Given the description of an element on the screen output the (x, y) to click on. 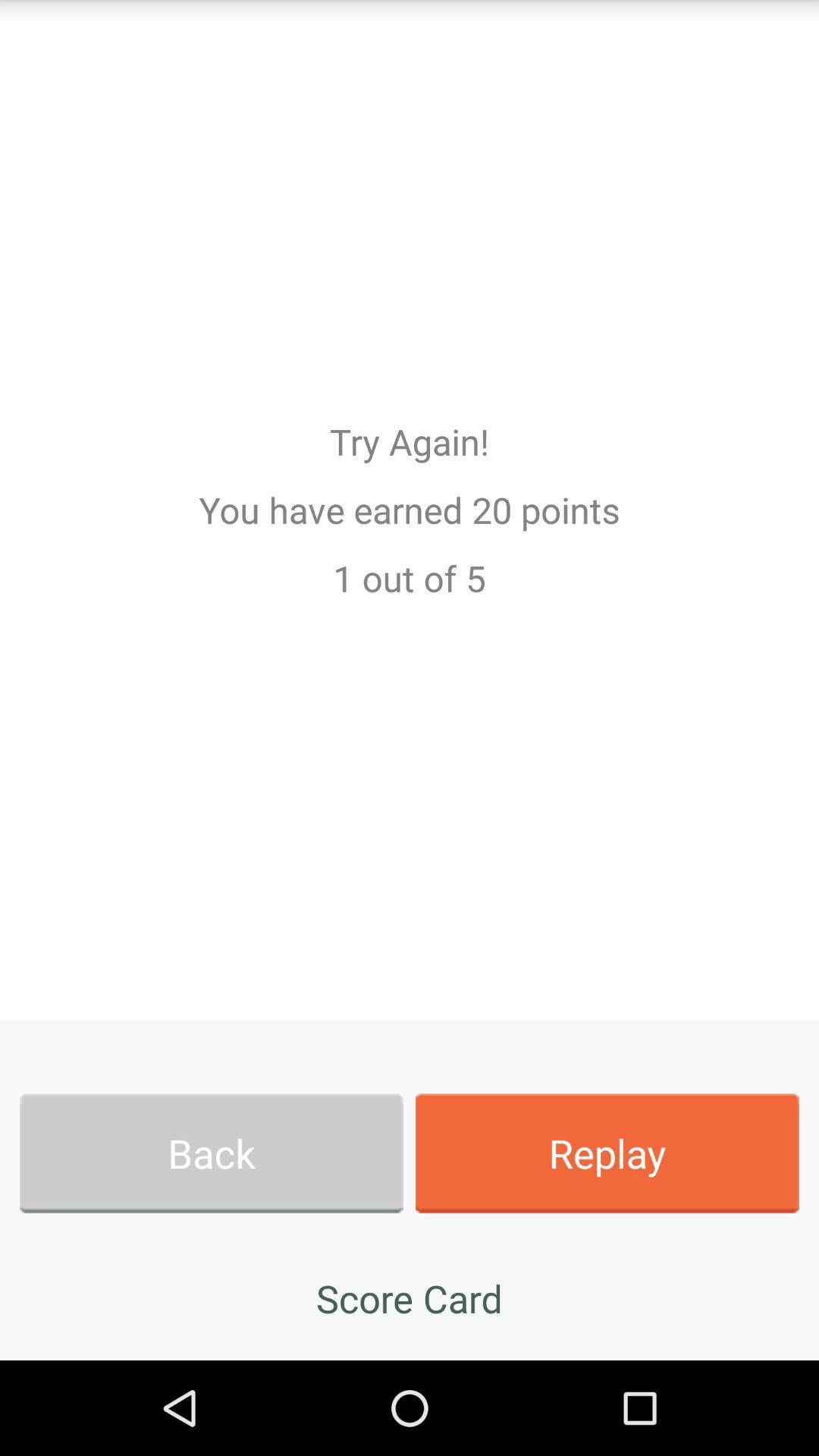
launch app at the bottom (409, 1298)
